Given the description of an element on the screen output the (x, y) to click on. 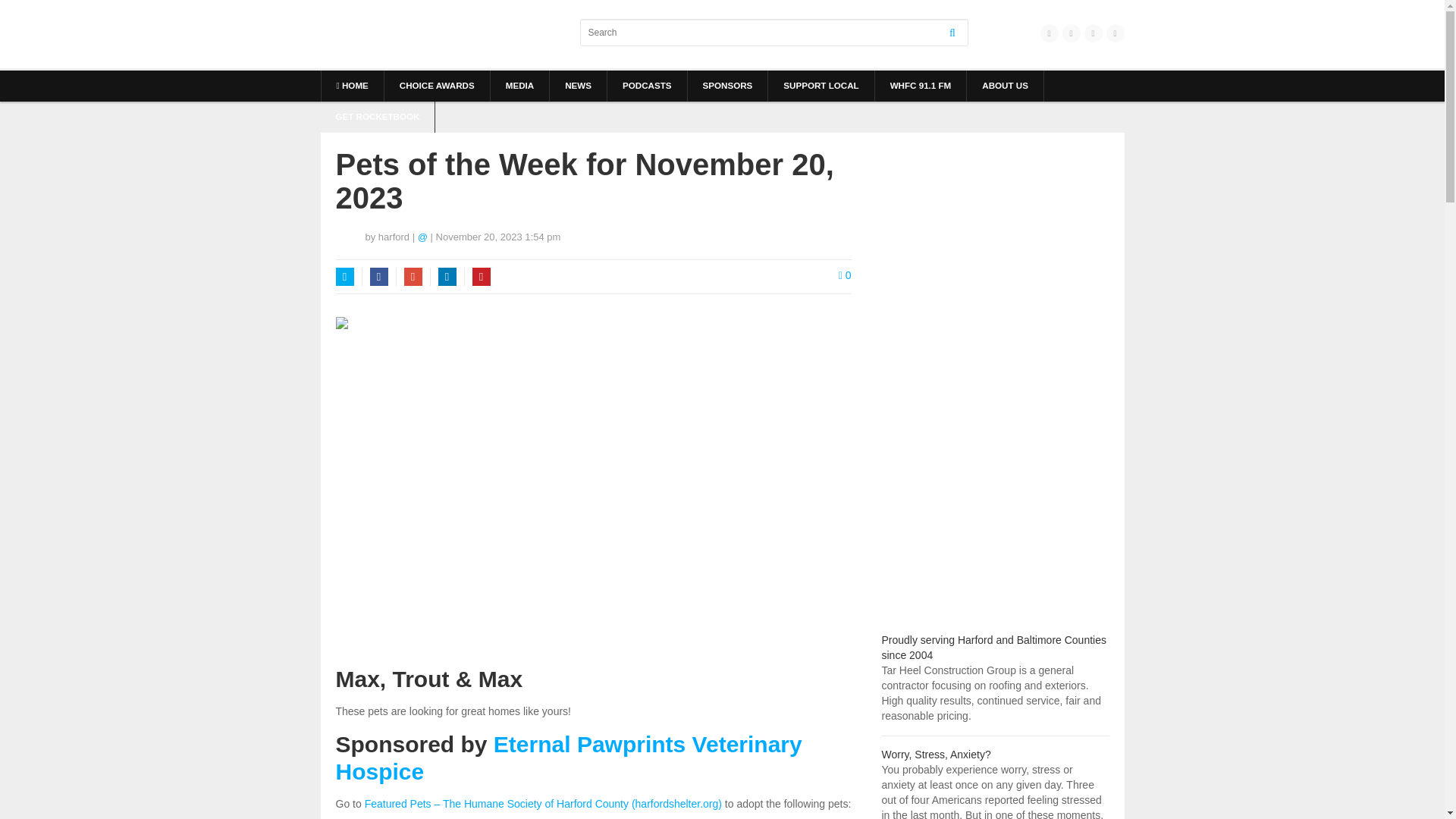
Twitter (343, 276)
ABOUT US (1004, 85)
Facebook (378, 276)
LinkedIn (447, 276)
Pinterest (480, 276)
harford (393, 236)
PODCASTS (647, 85)
SPONSORS (727, 85)
HOME (352, 85)
0 (844, 275)
GET ROCKETBOOK (376, 116)
WHFC 91.1 FM (920, 85)
Tar Heel Construction Group (992, 646)
Follow on Twitter (422, 236)
MEDIA (519, 85)
